Given the description of an element on the screen output the (x, y) to click on. 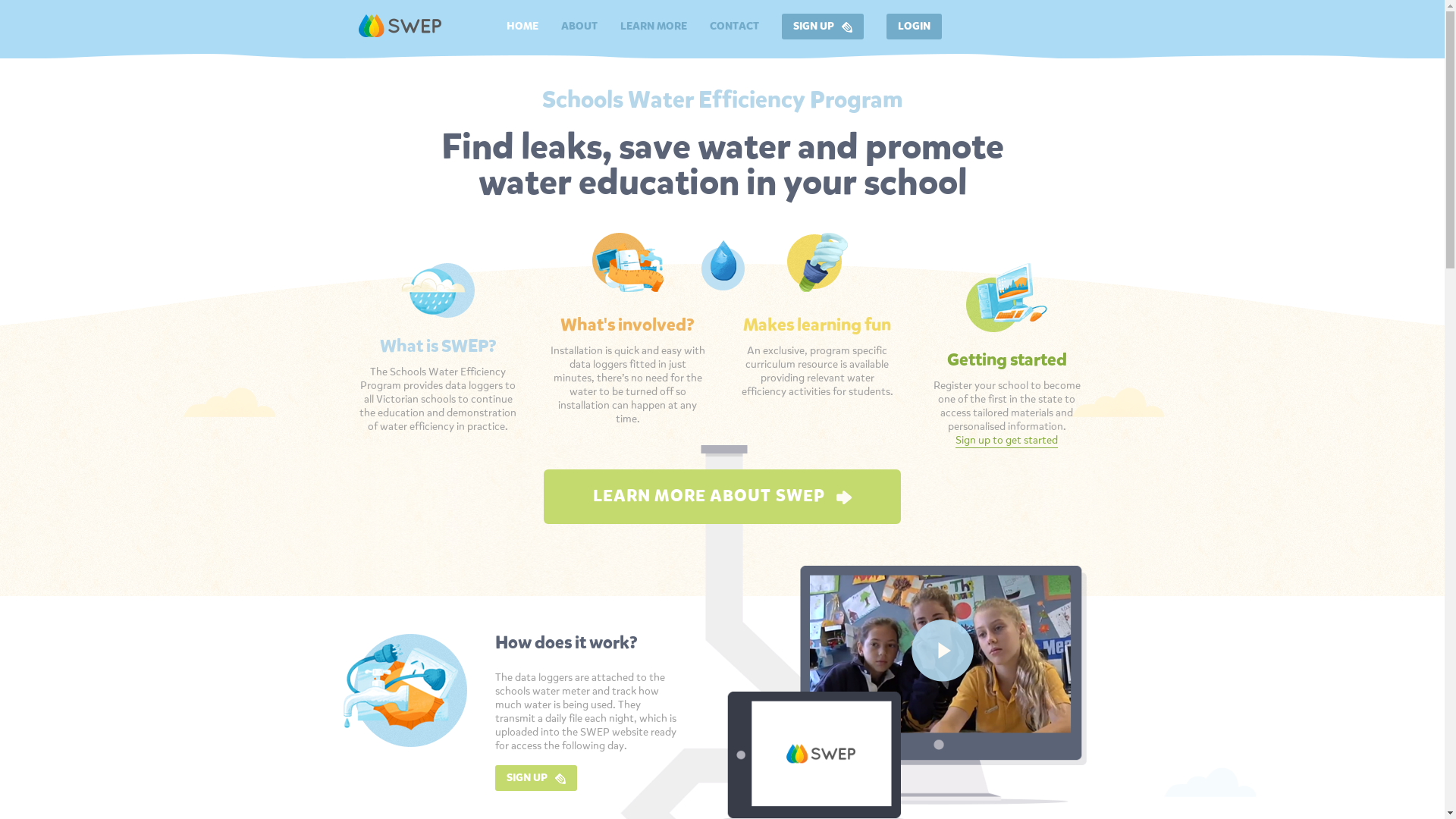
HOME Element type: text (522, 26)
LOGIN Element type: text (913, 26)
Return to the home page Element type: hover (398, 25)
ABOUT Element type: text (579, 26)
SIGN UP Element type: text (821, 26)
LEARN MORE ABOUT SWEP Element type: text (721, 496)
LEARN MORE Element type: text (653, 26)
Sign up to get started Element type: text (1006, 440)
CONTACT Element type: text (734, 26)
